Given the description of an element on the screen output the (x, y) to click on. 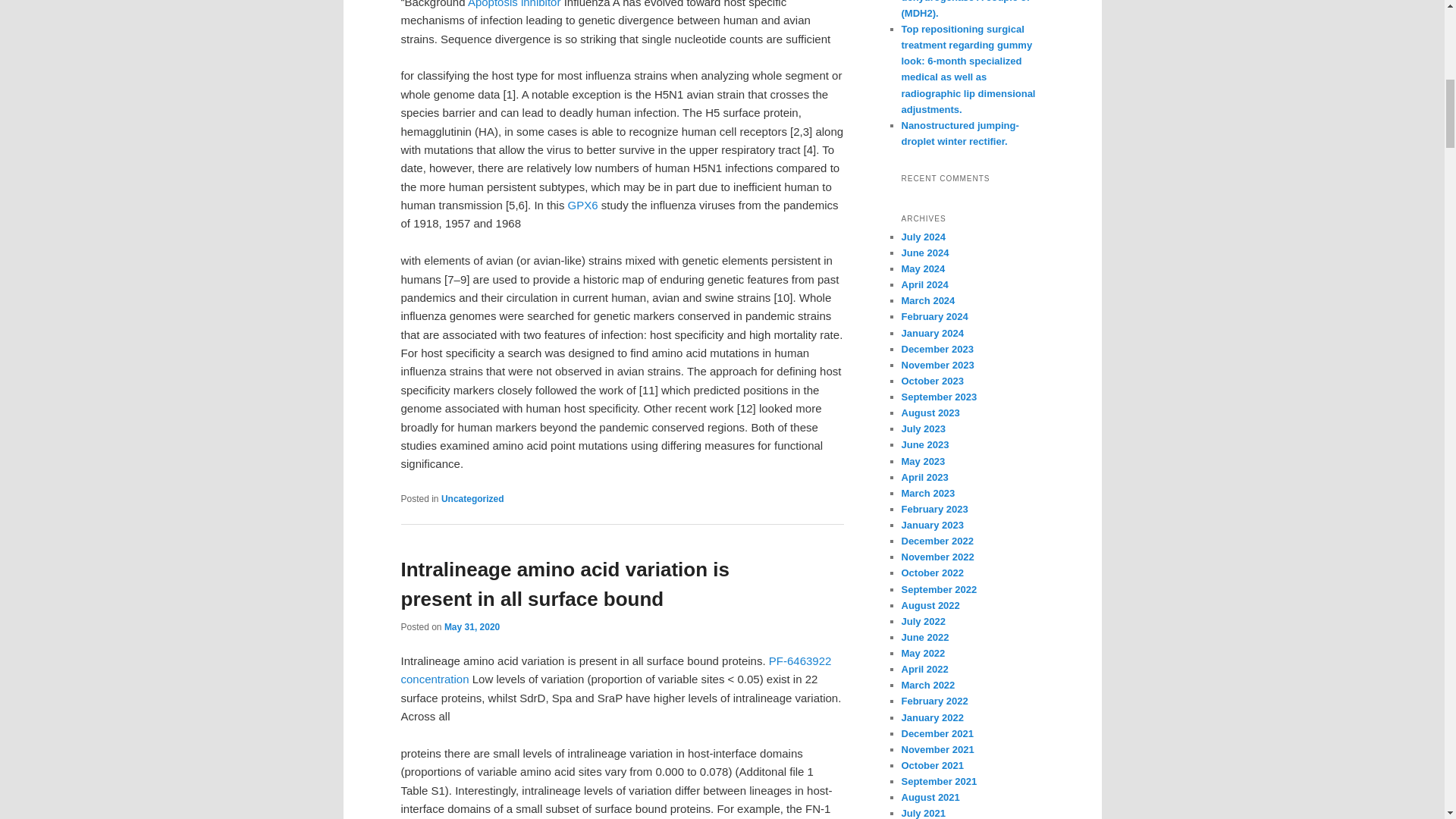
Apoptosis inhibitor (513, 4)
PF-6463922 concentration (615, 669)
View all posts in Uncategorized (472, 498)
Uncategorized (472, 498)
GPX6 (582, 205)
May 31, 2020 (471, 626)
3:23 am (471, 626)
